Given the description of an element on the screen output the (x, y) to click on. 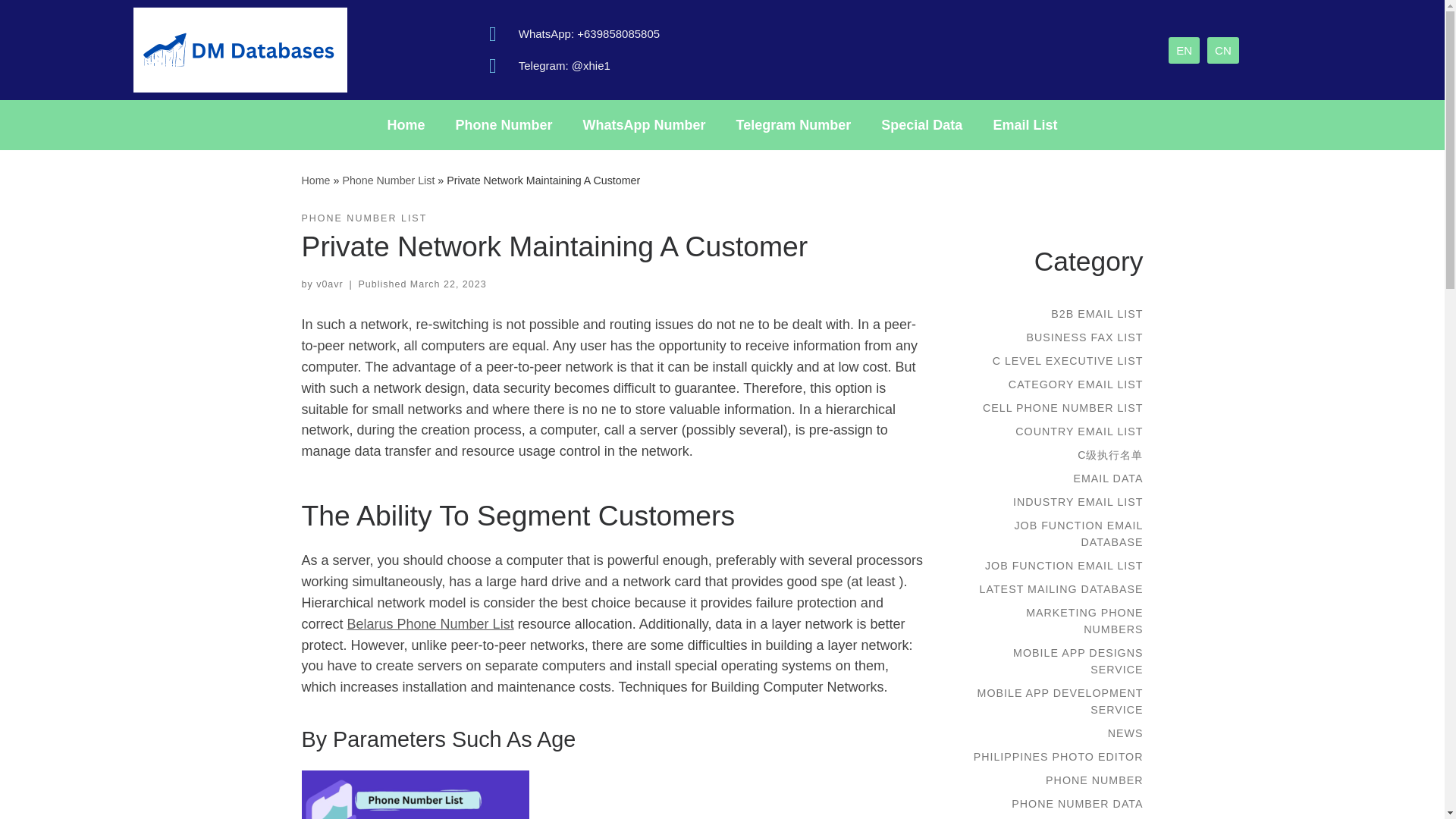
WhatsApp Number (643, 124)
v0avr (329, 284)
Email List (1023, 124)
CN (1223, 49)
DM Databases (315, 180)
Telegram Number (793, 124)
Phone Number (504, 124)
Home (406, 124)
Home (315, 180)
Phone Number List (387, 180)
